Given the description of an element on the screen output the (x, y) to click on. 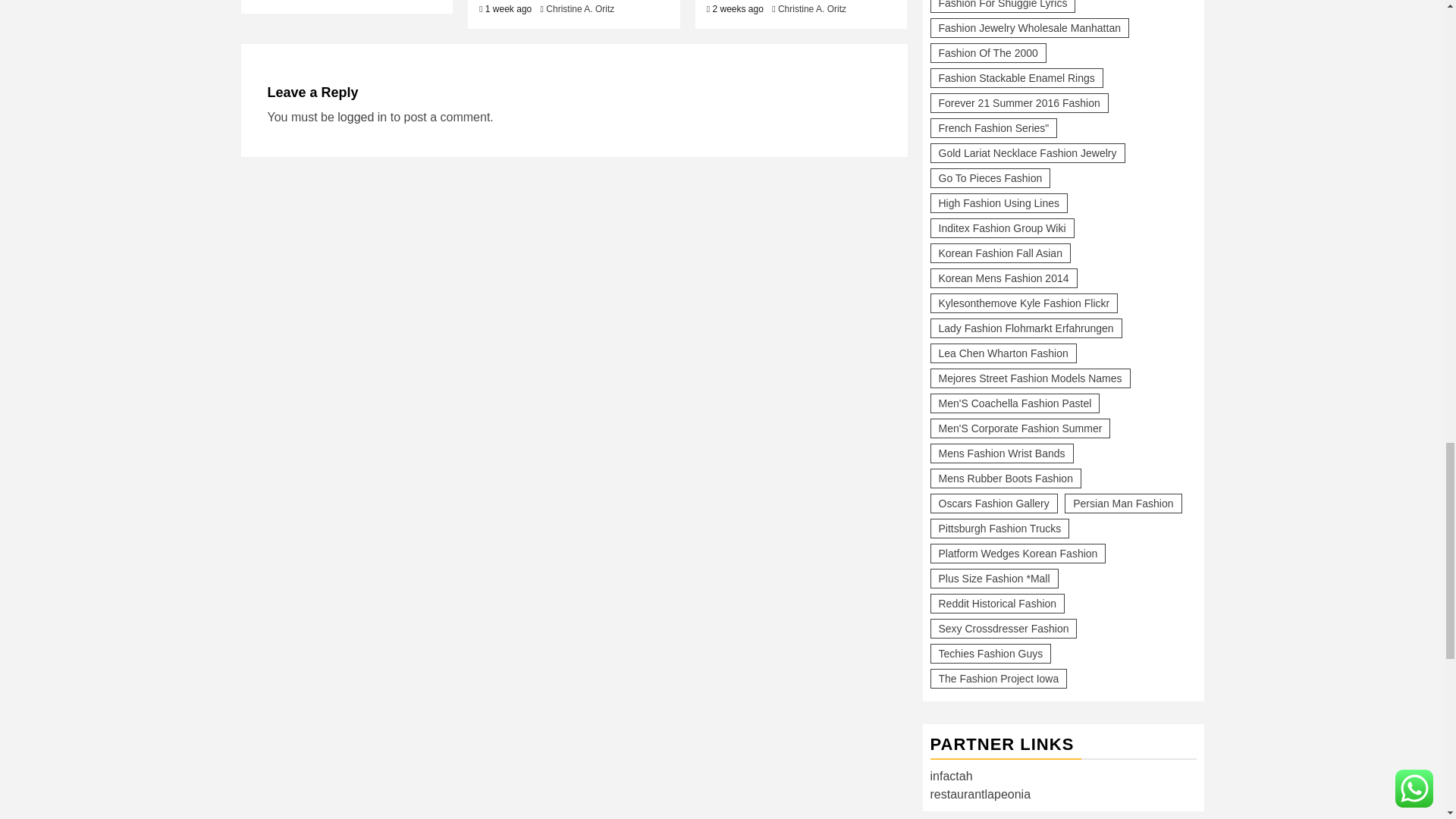
Christine A. Oritz (811, 9)
logged in (362, 116)
Christine A. Oritz (580, 9)
